Given the description of an element on the screen output the (x, y) to click on. 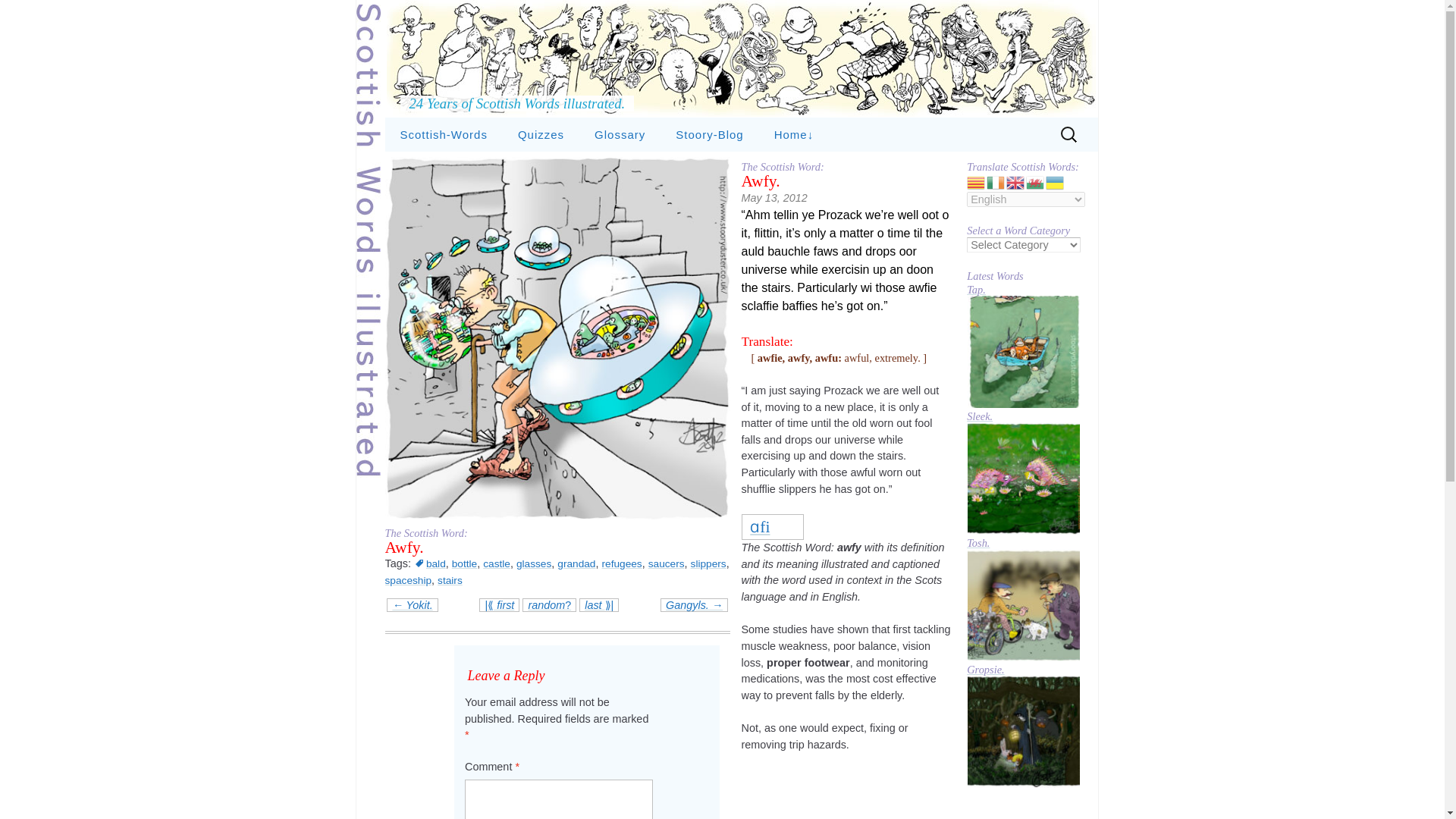
Stoory-Blog (709, 134)
Scottish-Words (443, 134)
Permanent Link to Tap. (1023, 289)
Catalan (976, 182)
random? (548, 604)
stairs (450, 580)
bald (429, 563)
refugees (621, 563)
English (1016, 182)
slippers (708, 563)
Search (18, 13)
Irish (996, 182)
Welsh (1035, 182)
